Given the description of an element on the screen output the (x, y) to click on. 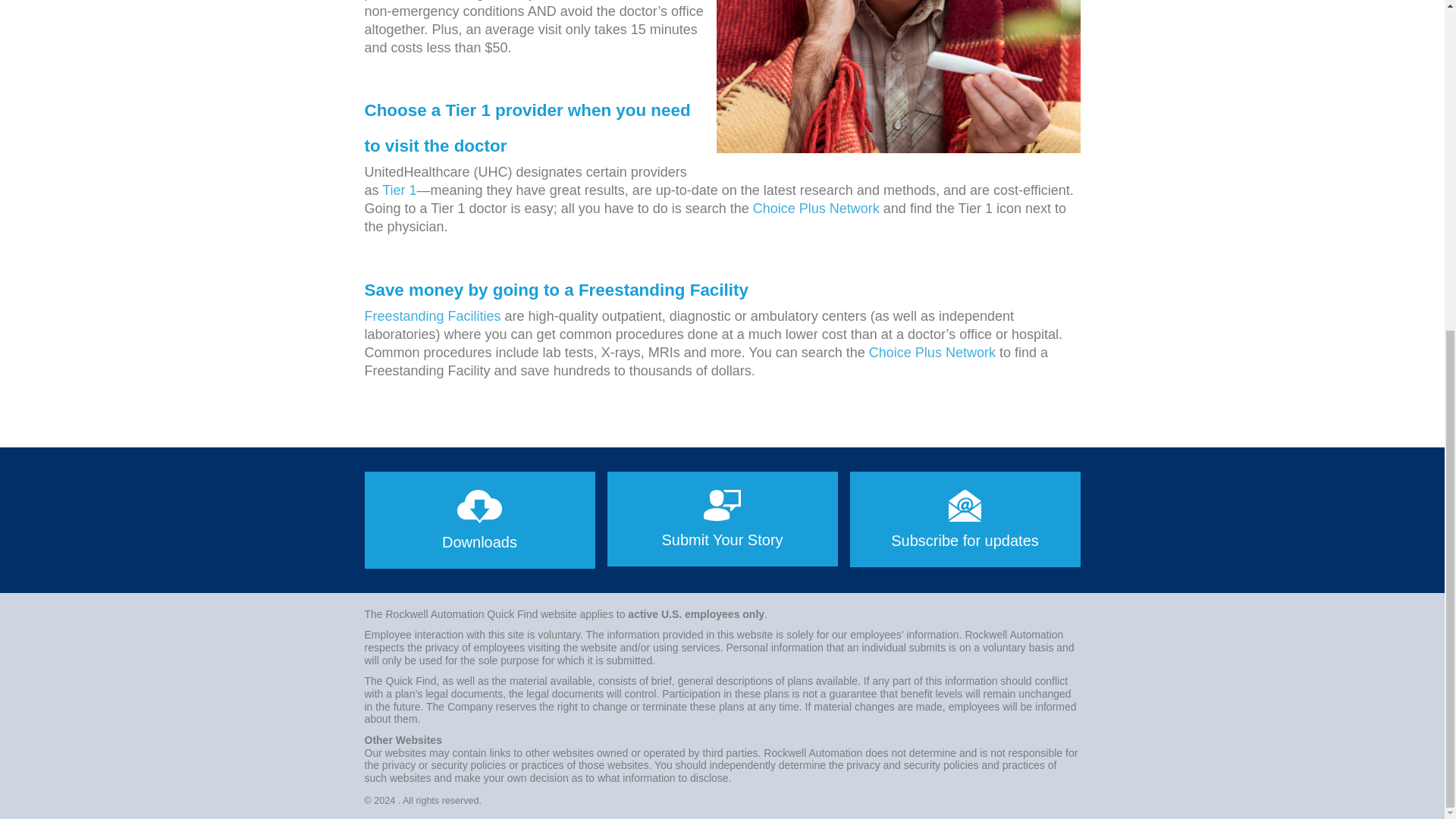
Freestanding Facilities (432, 315)
Choice Plus Network (815, 208)
Submit Your Story (722, 518)
Subscribe for updates (964, 519)
Tier 1 (398, 190)
Downloads (479, 519)
Choice Plus Network (932, 352)
